Given the description of an element on the screen output the (x, y) to click on. 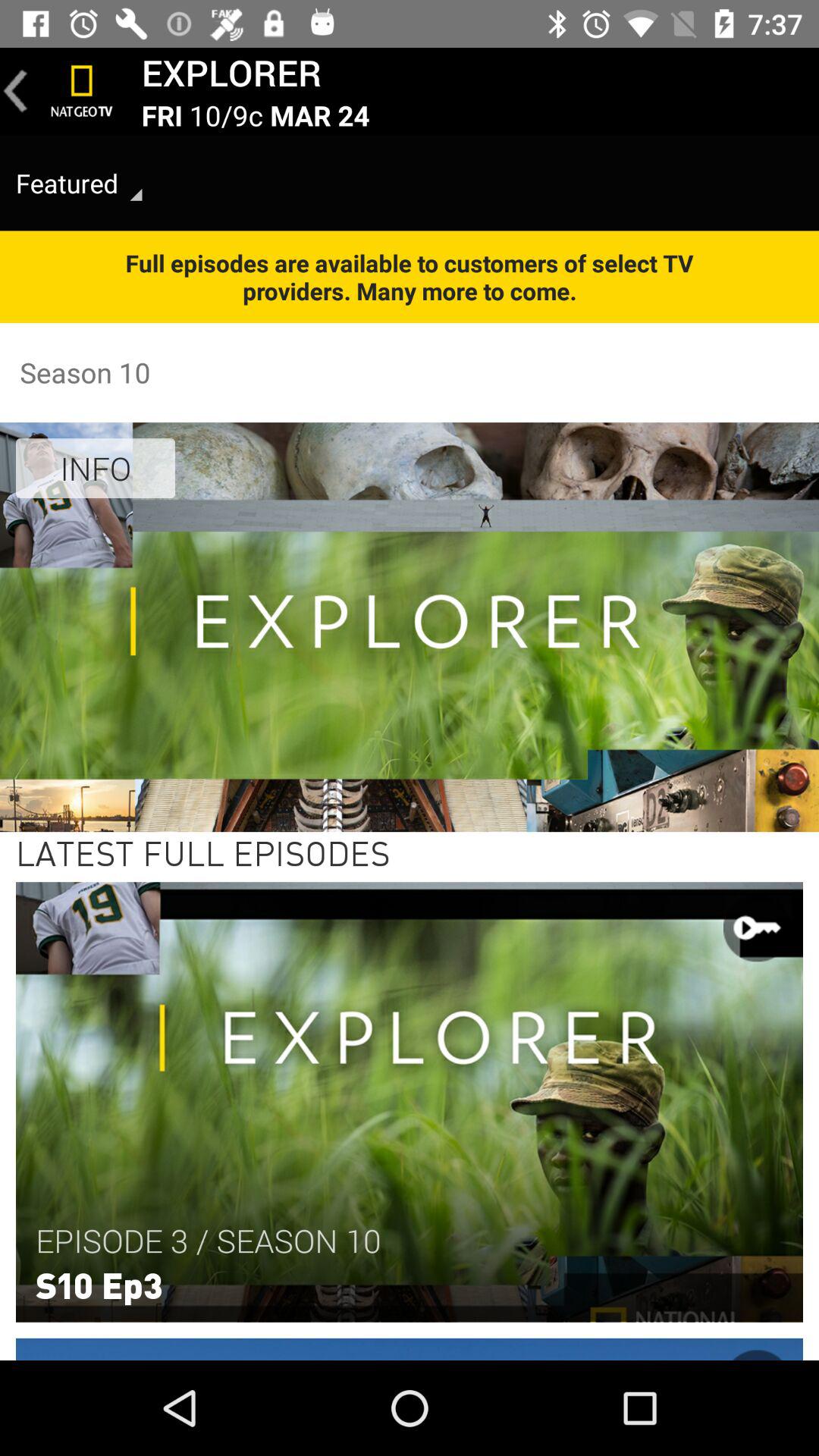
nat geo tv home option (81, 90)
